Given the description of an element on the screen output the (x, y) to click on. 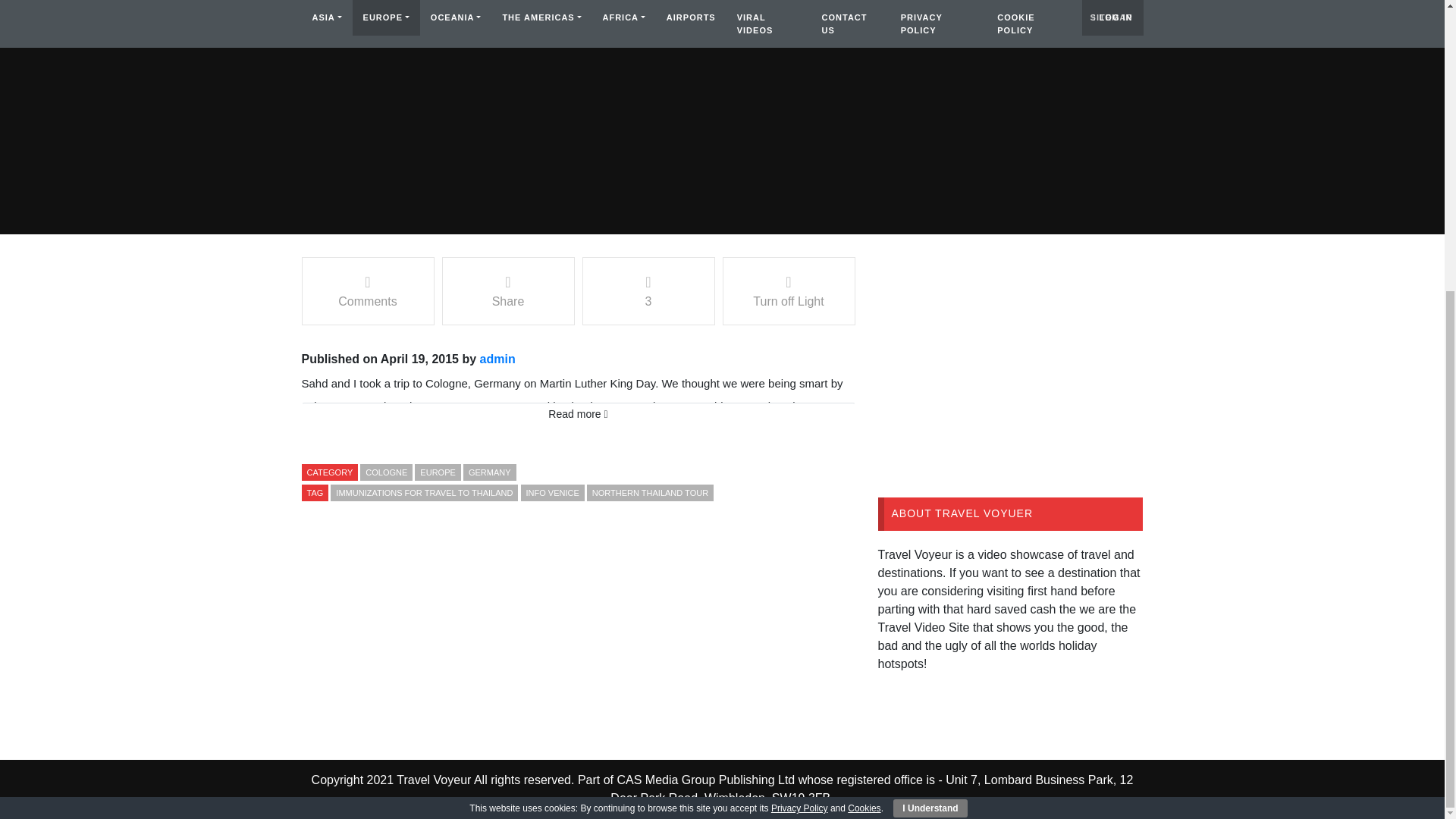
Comments (367, 291)
